Given the description of an element on the screen output the (x, y) to click on. 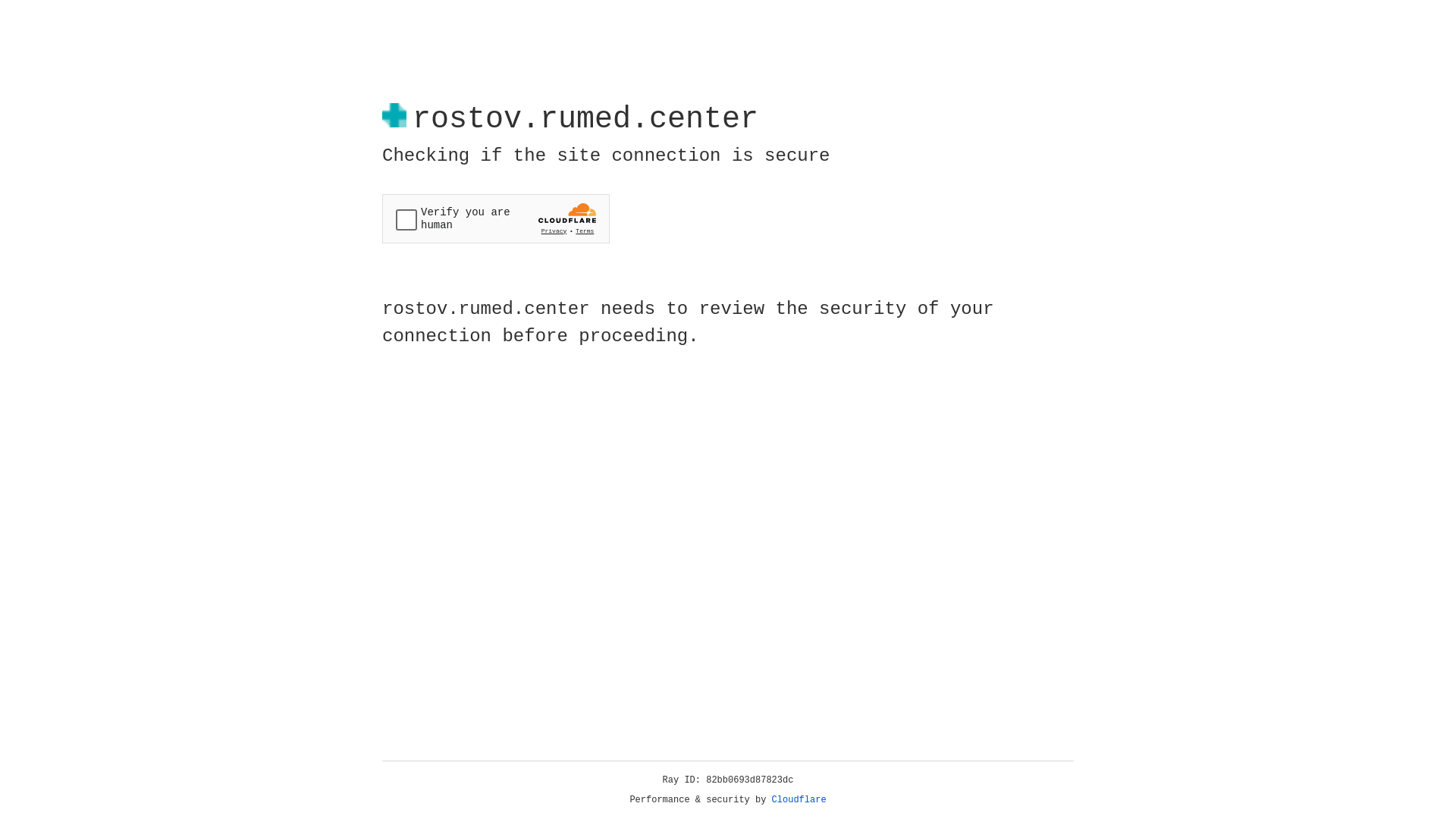
Cloudflare Element type: text (798, 799)
Widget containing a Cloudflare security challenge Element type: hover (495, 218)
